Given the description of an element on the screen output the (x, y) to click on. 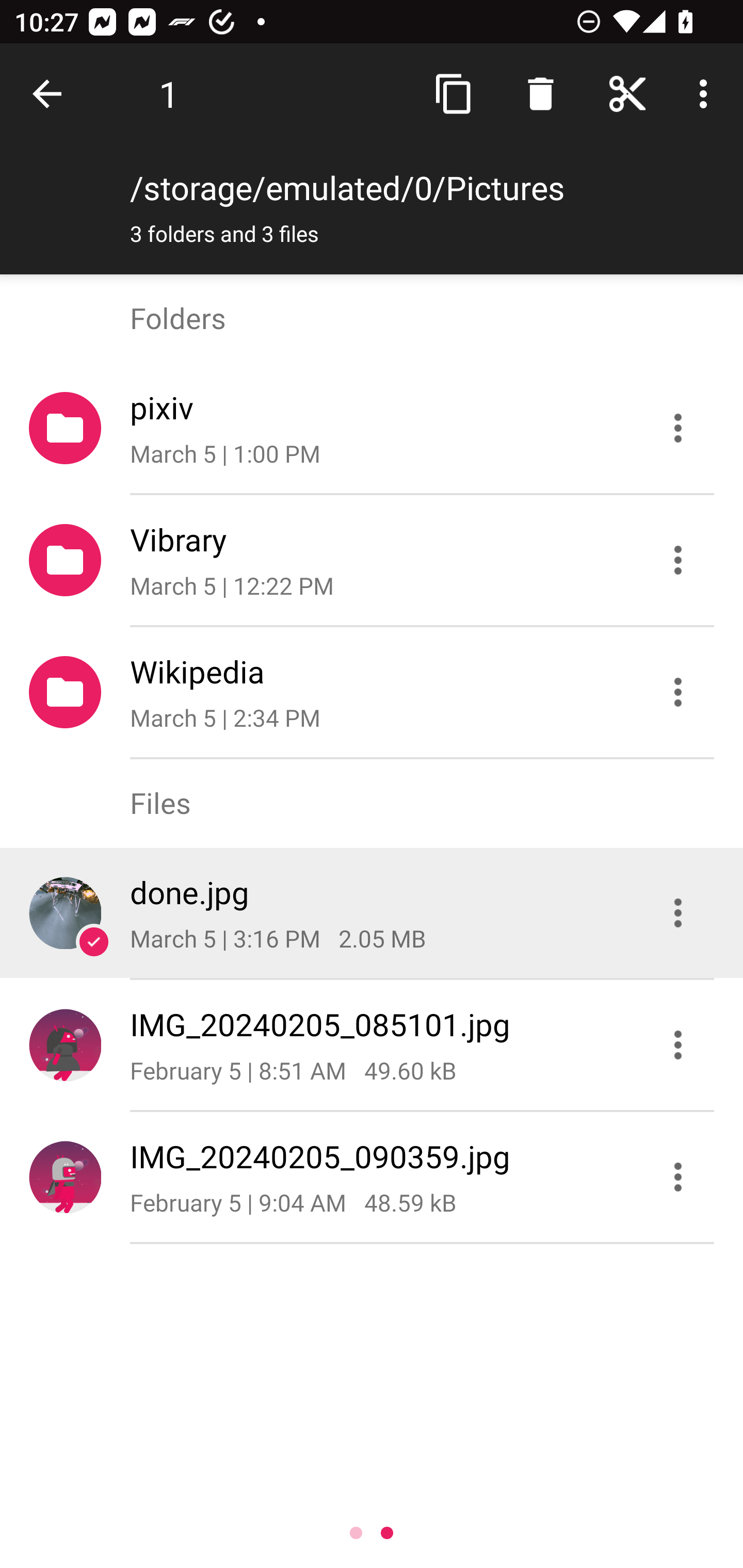
1 (169, 93)
Done (50, 93)
Copy (453, 93)
Search (540, 93)
Home (626, 93)
More options (706, 93)
pixiv March 5 | 1:00 PM (371, 427)
Vibrary March 5 | 12:22 PM (371, 560)
Wikipedia March 5 | 2:34 PM (371, 692)
icon done.jpg March 5 | 3:16 PM 2.05 MB (371, 913)
icon (64, 912)
icon (64, 1044)
icon (64, 1177)
